Given the description of an element on the screen output the (x, y) to click on. 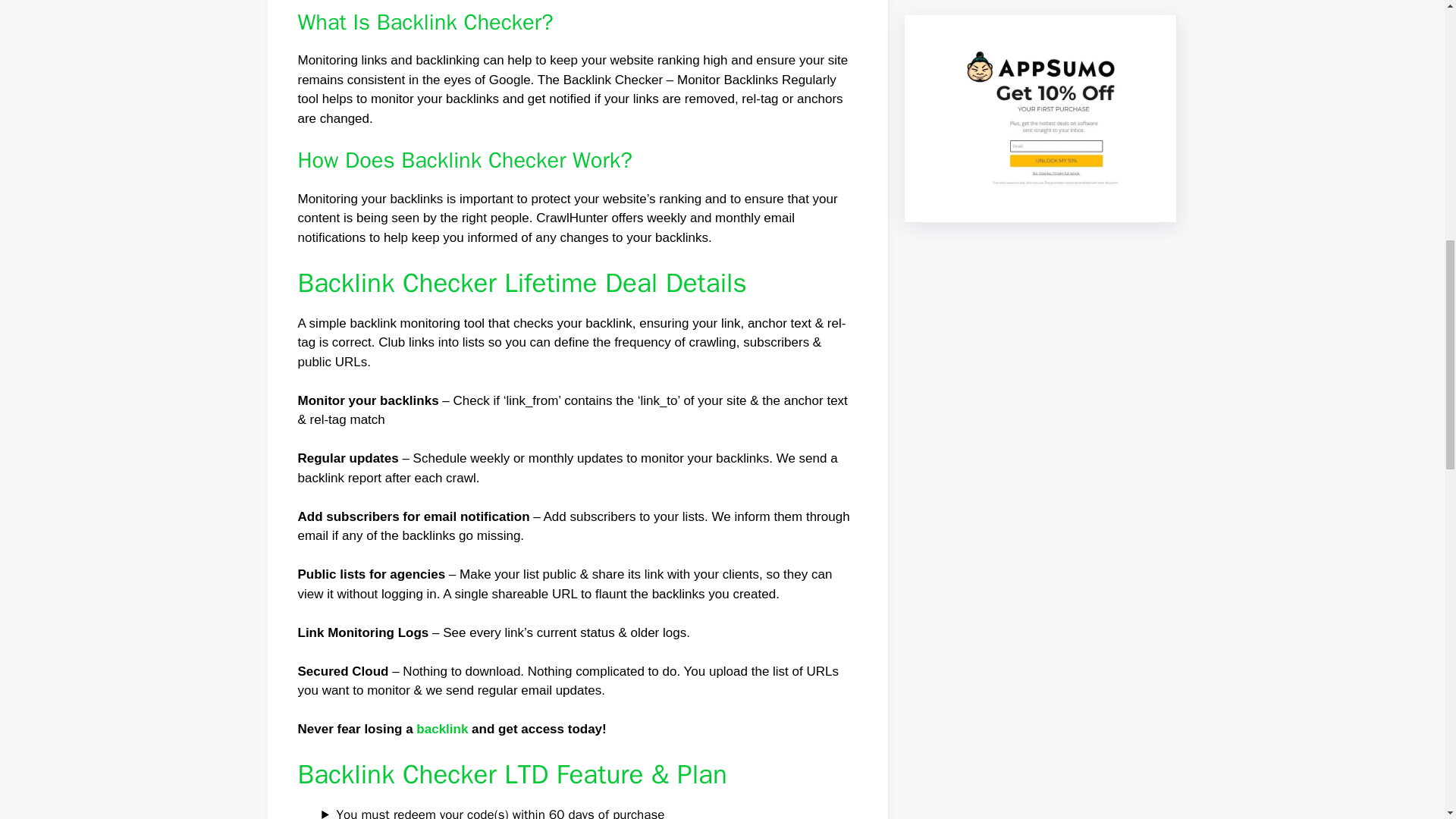
Scroll back to top (1406, 720)
backlink (441, 728)
